Given the description of an element on the screen output the (x, y) to click on. 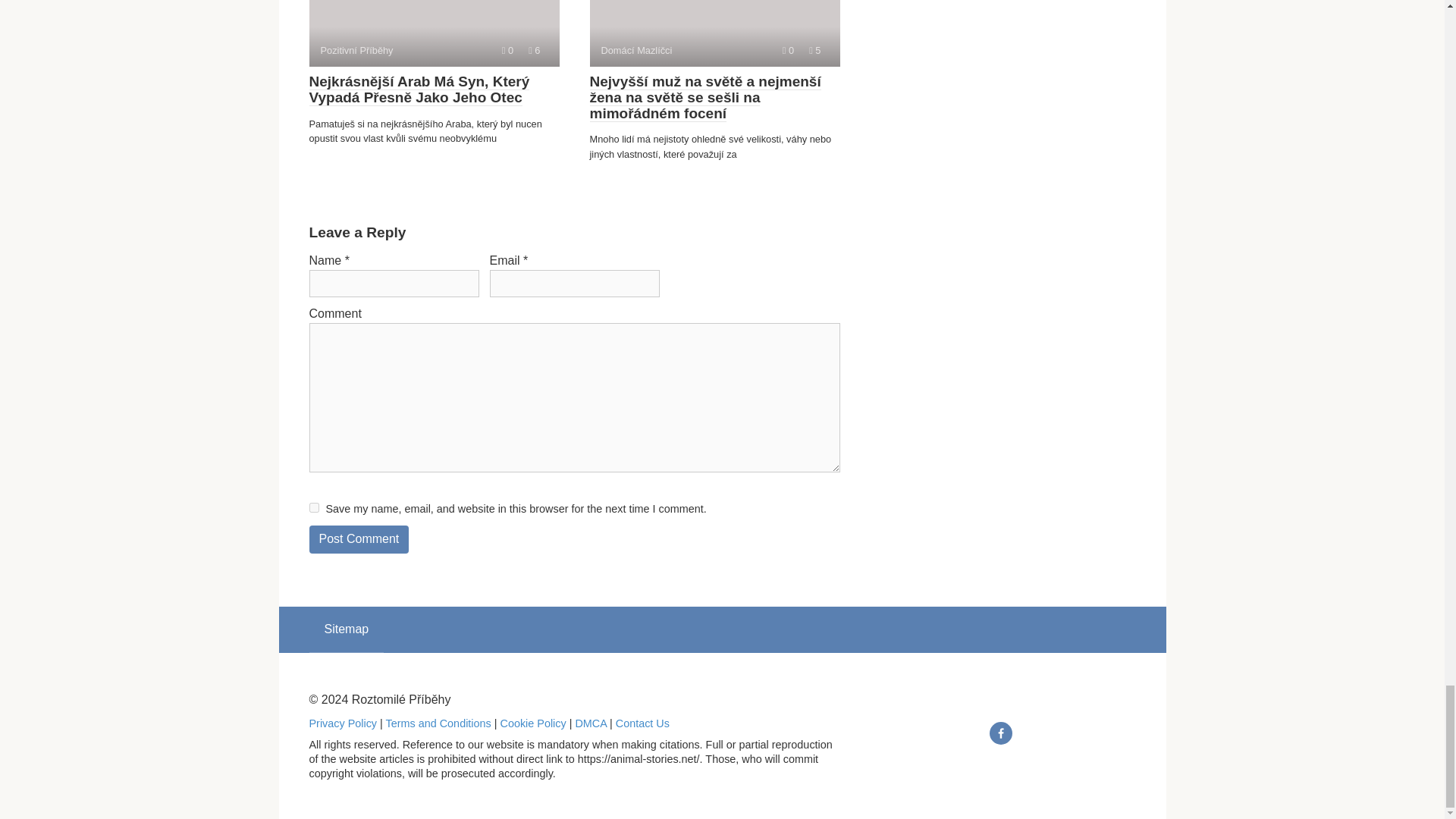
Comments (788, 50)
Post Comment (358, 539)
Comments (507, 50)
Views (534, 50)
yes (313, 507)
Views (815, 50)
Post Comment (358, 539)
